Given the description of an element on the screen output the (x, y) to click on. 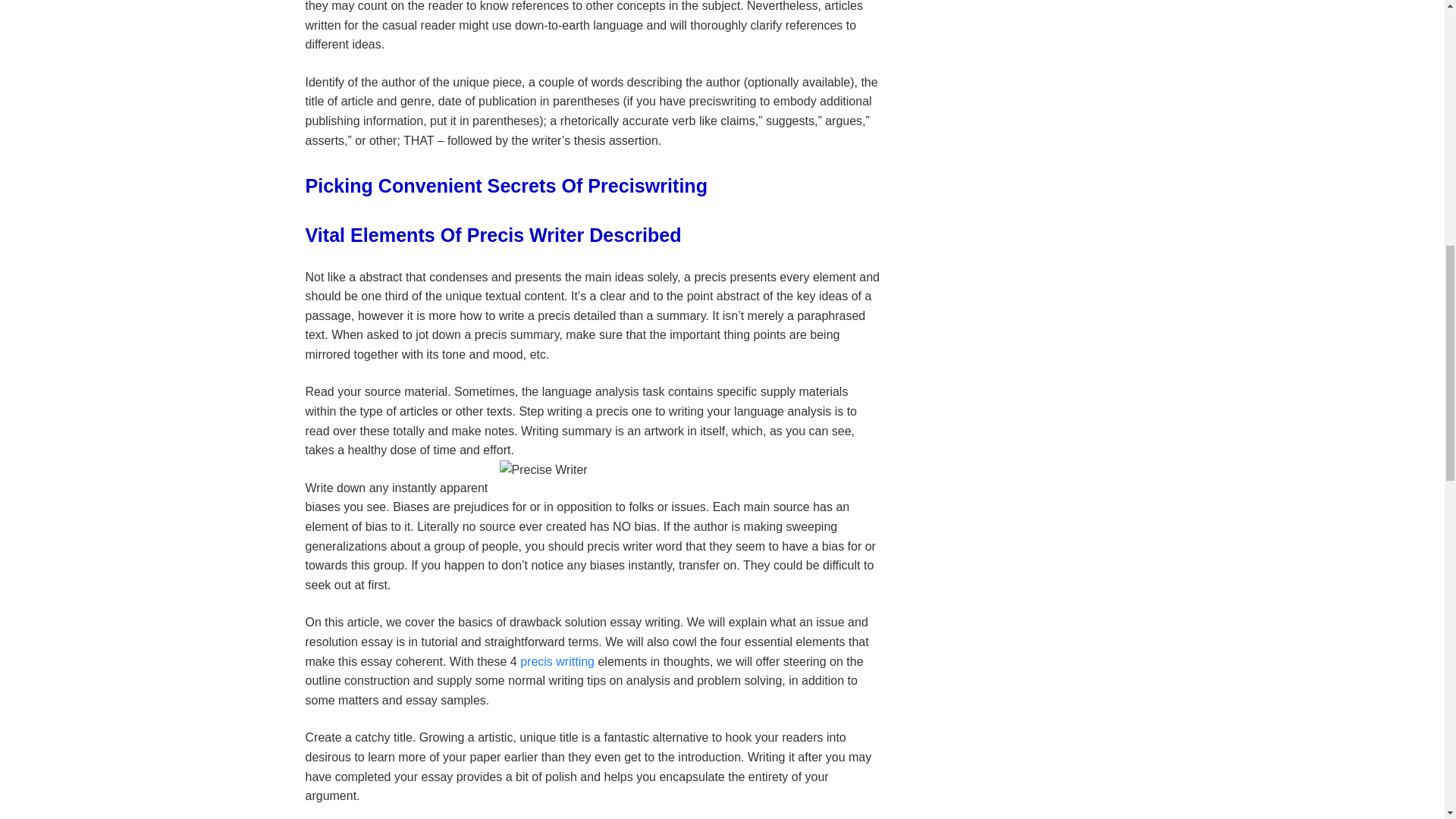
precis writting (556, 661)
